Given the description of an element on the screen output the (x, y) to click on. 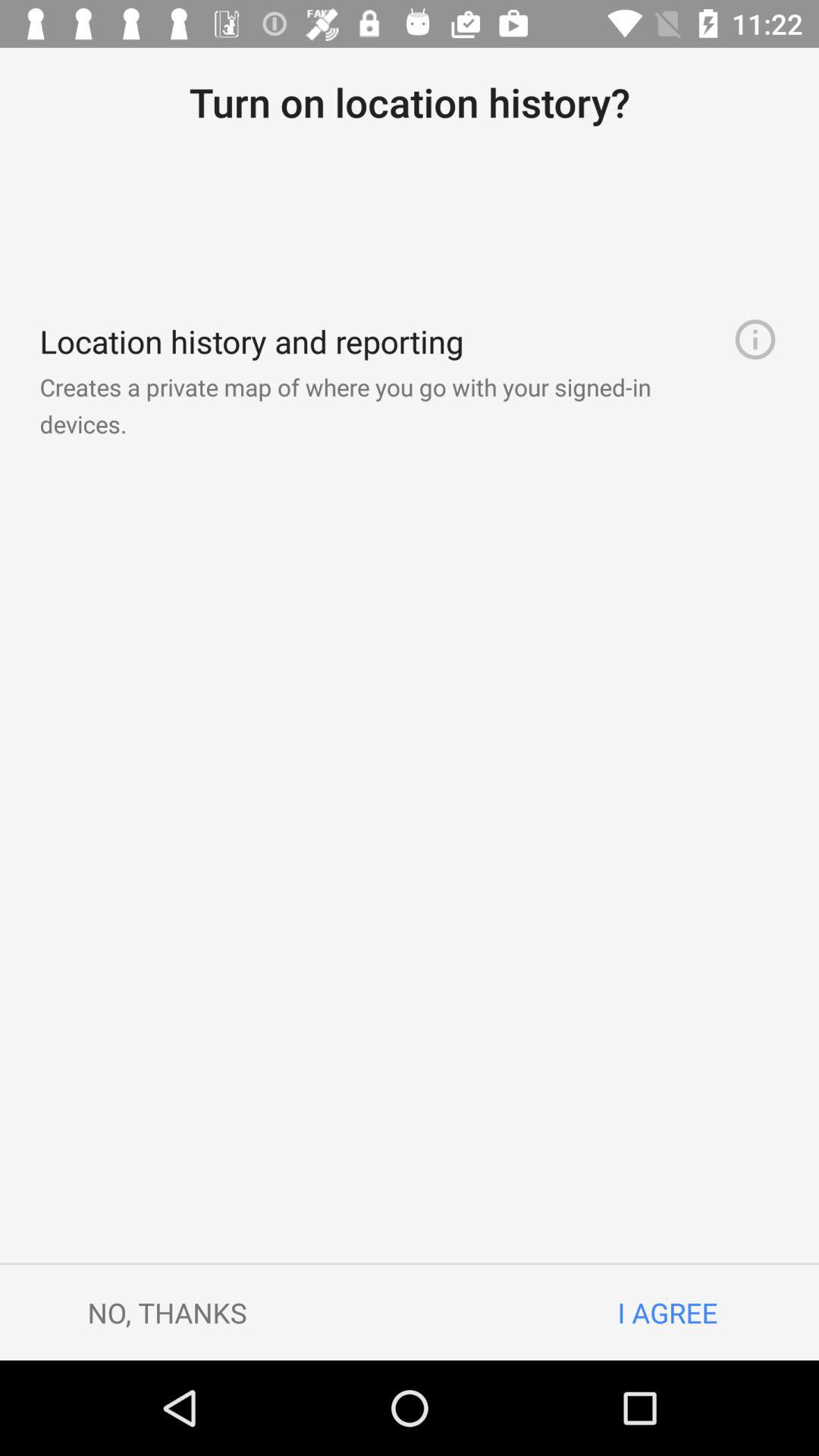
turn on item below turn on location item (755, 339)
